Given the description of an element on the screen output the (x, y) to click on. 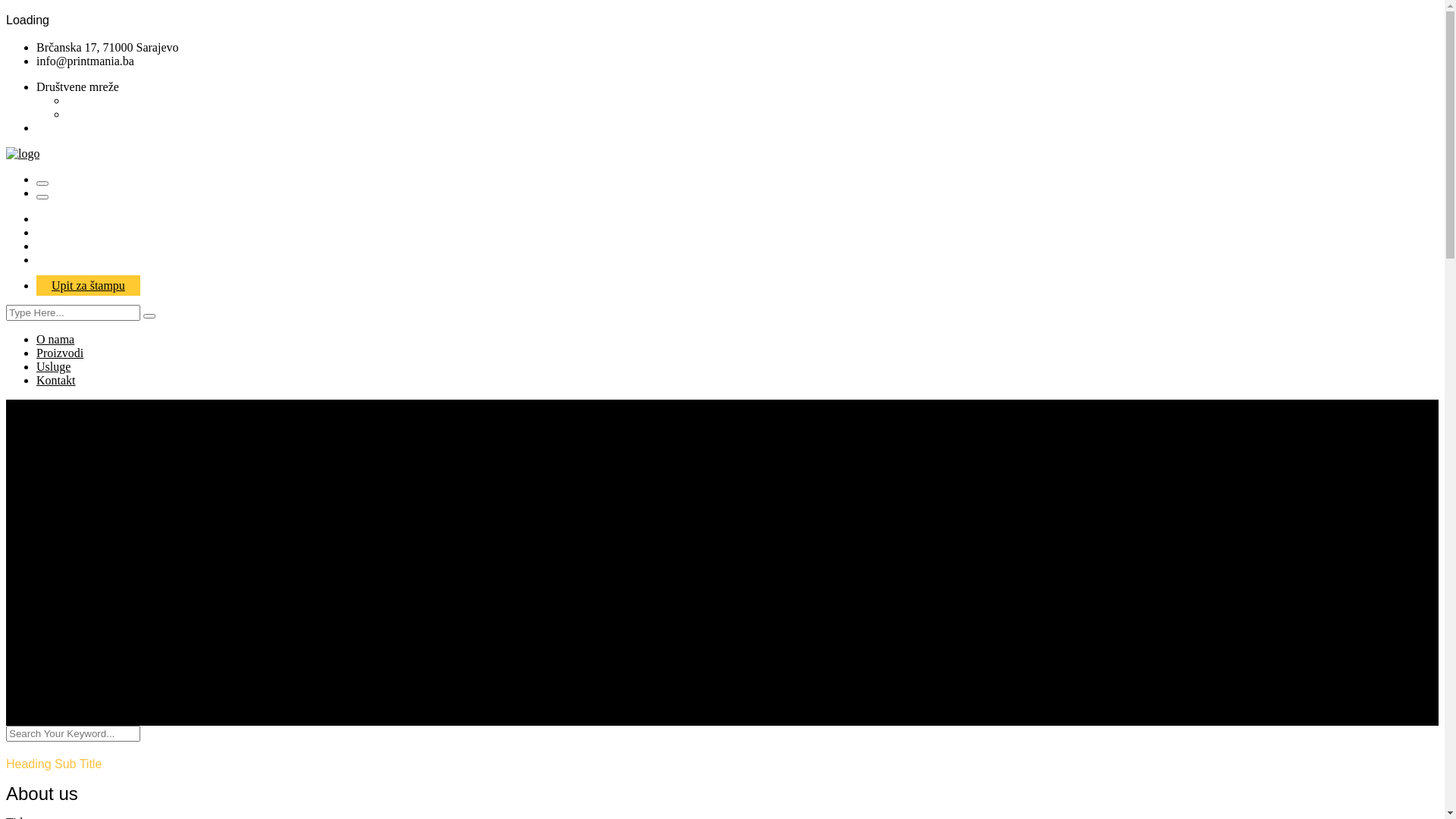
O nama Element type: text (55, 338)
USLUGE Element type: text (60, 245)
KONTAKT Element type: text (65, 259)
O NAMA Element type: text (60, 218)
PROIZVODI Element type: text (68, 231)
Home Element type: text (50, 570)
Proizvodi Element type: text (59, 352)
Usluge Element type: text (53, 366)
Kontakt Element type: text (55, 379)
